Given the description of an element on the screen output the (x, y) to click on. 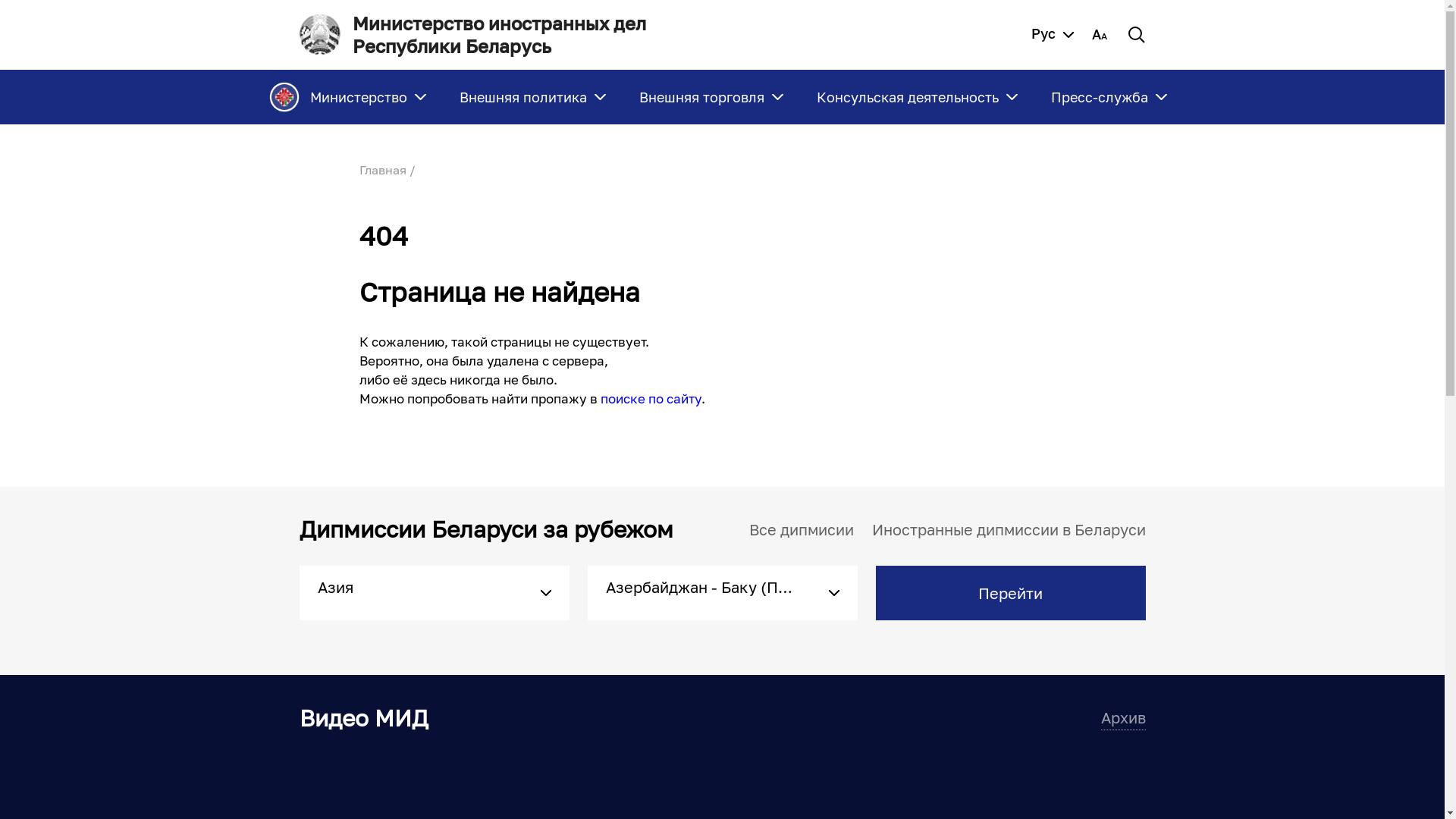
AA Element type: text (1099, 34)
